Given the description of an element on the screen output the (x, y) to click on. 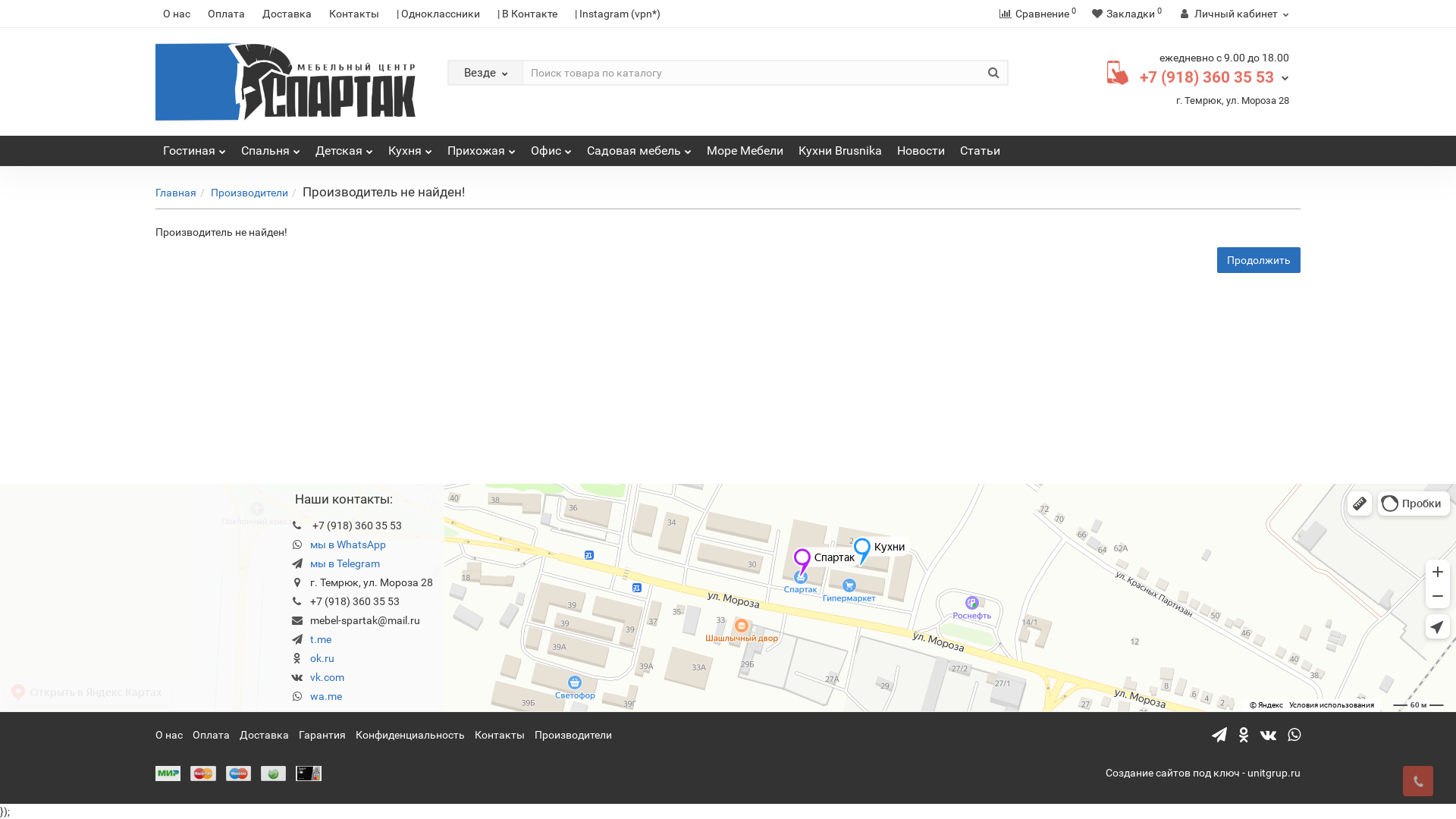
t.me Element type: text (320, 639)
ok.ru Element type: text (322, 658)
wa.me Element type: text (326, 696)
| Instagram (vpn*) Element type: text (617, 13)
vk.com Element type: text (327, 677)
+7 (918) 360 35 53 Element type: text (1214, 76)
